Given the description of an element on the screen output the (x, y) to click on. 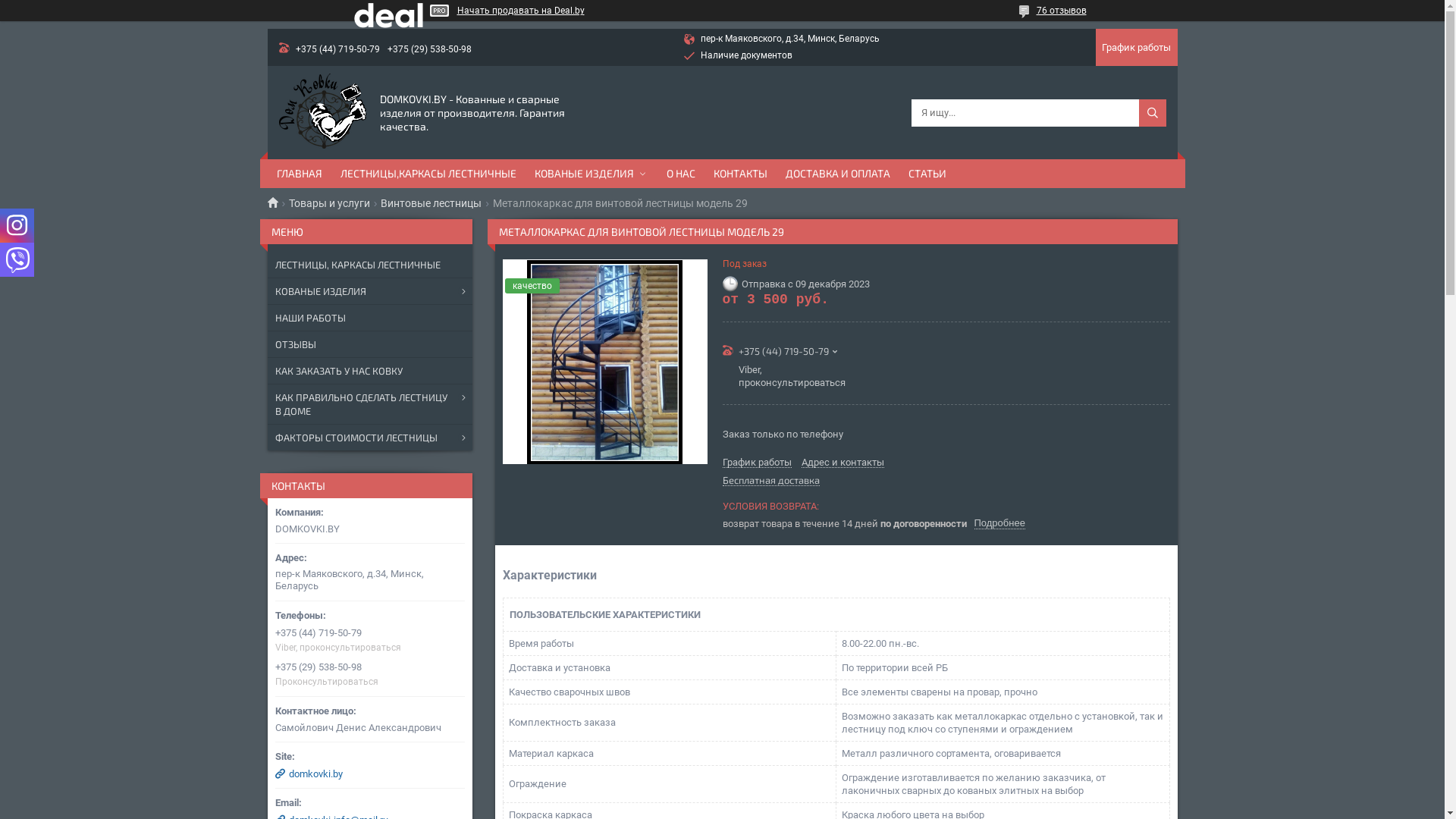
domkovki.by Element type: text (369, 773)
Domkovki.by Element type: hover (277, 202)
DOMKOVKI.BY Element type: hover (322, 111)
